Given the description of an element on the screen output the (x, y) to click on. 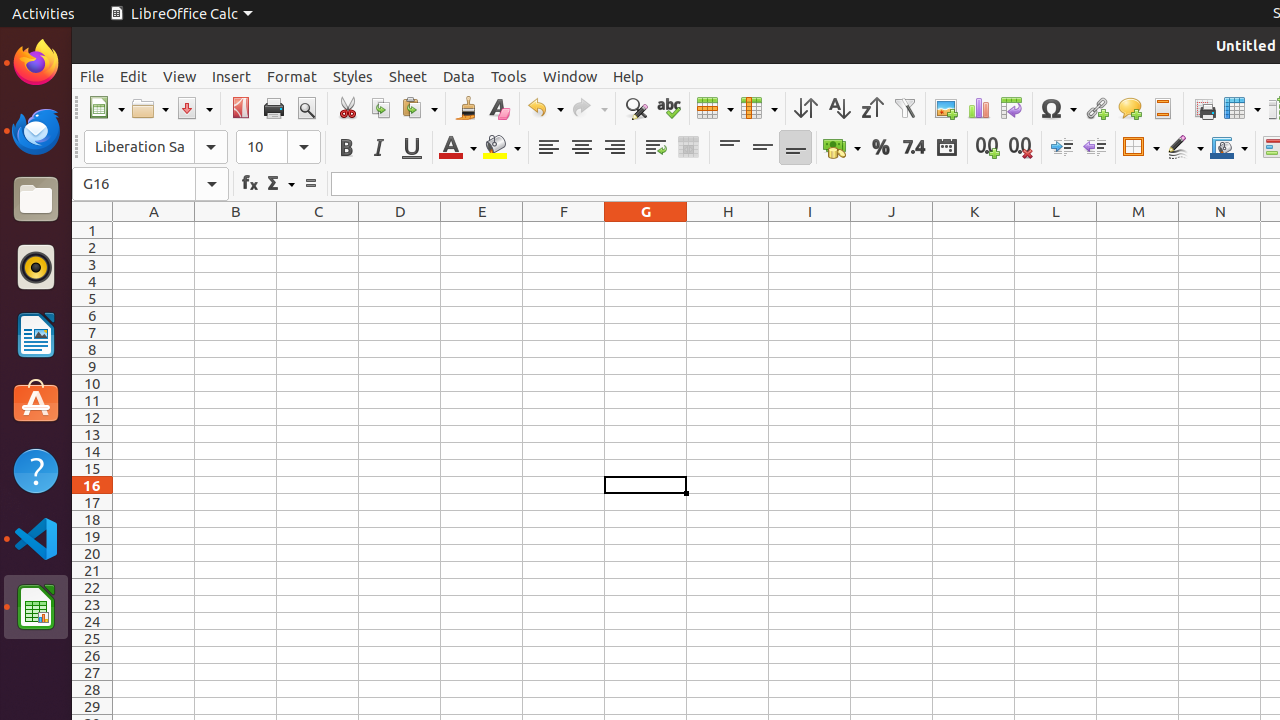
Center Vertically Element type: push-button (762, 147)
Select Function Element type: push-button (280, 183)
Function Wizard Element type: push-button (249, 183)
Styles Element type: menu (353, 76)
Sort Descending Element type: push-button (871, 108)
